Given the description of an element on the screen output the (x, y) to click on. 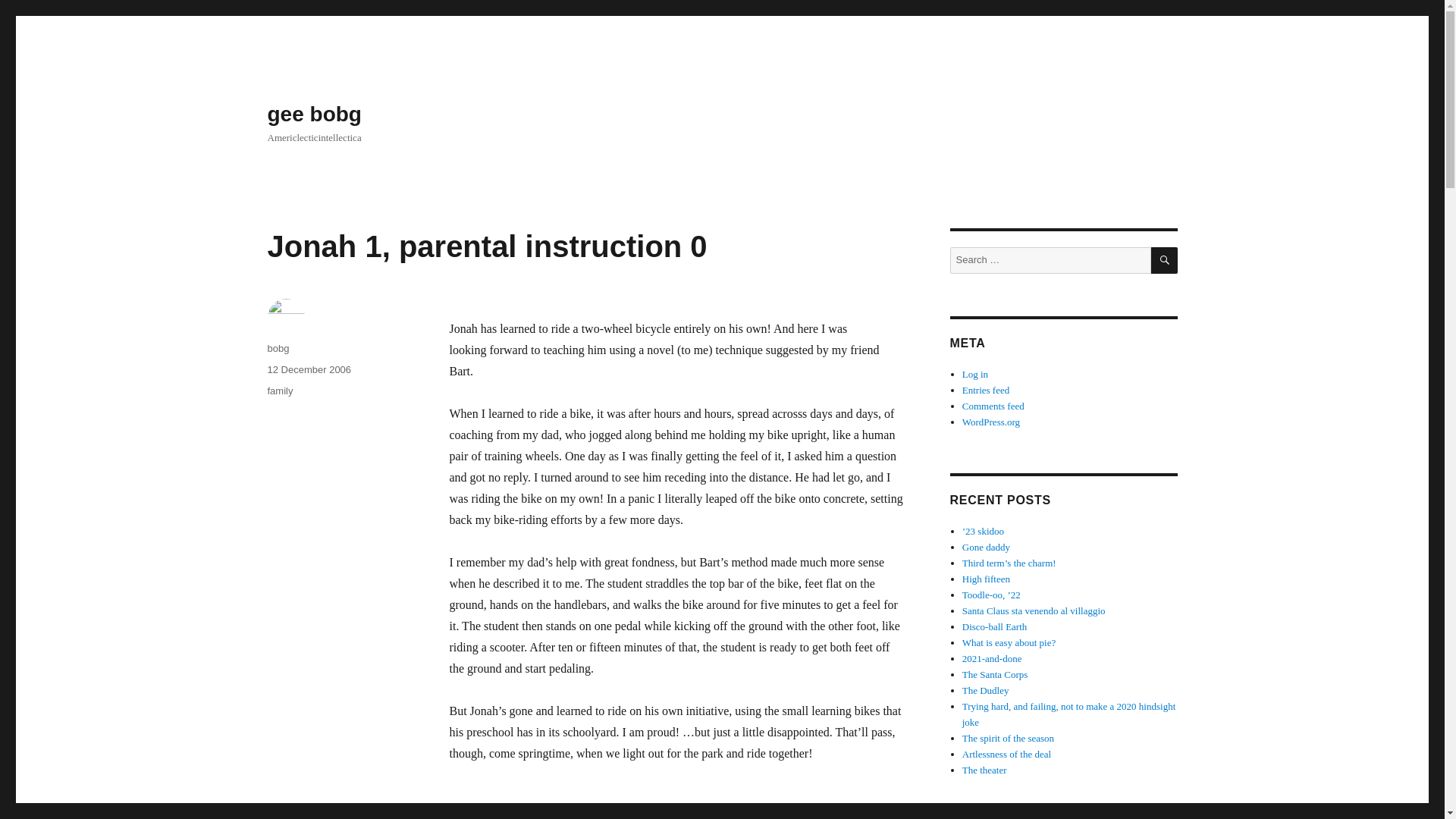
gee bobg (313, 114)
12 December 2006 (308, 369)
Entries feed (985, 389)
The spirit of the season (1008, 737)
Artlessness of the deal (1006, 754)
bobg (277, 348)
WordPress.org (991, 421)
family (279, 390)
SEARCH (1164, 260)
Disco-ball Earth (994, 626)
Santa Claus sta venendo al villaggio (1033, 610)
The Dudley (985, 690)
The Santa Corps (994, 674)
Comments feed (993, 405)
High fifteen (986, 578)
